Given the description of an element on the screen output the (x, y) to click on. 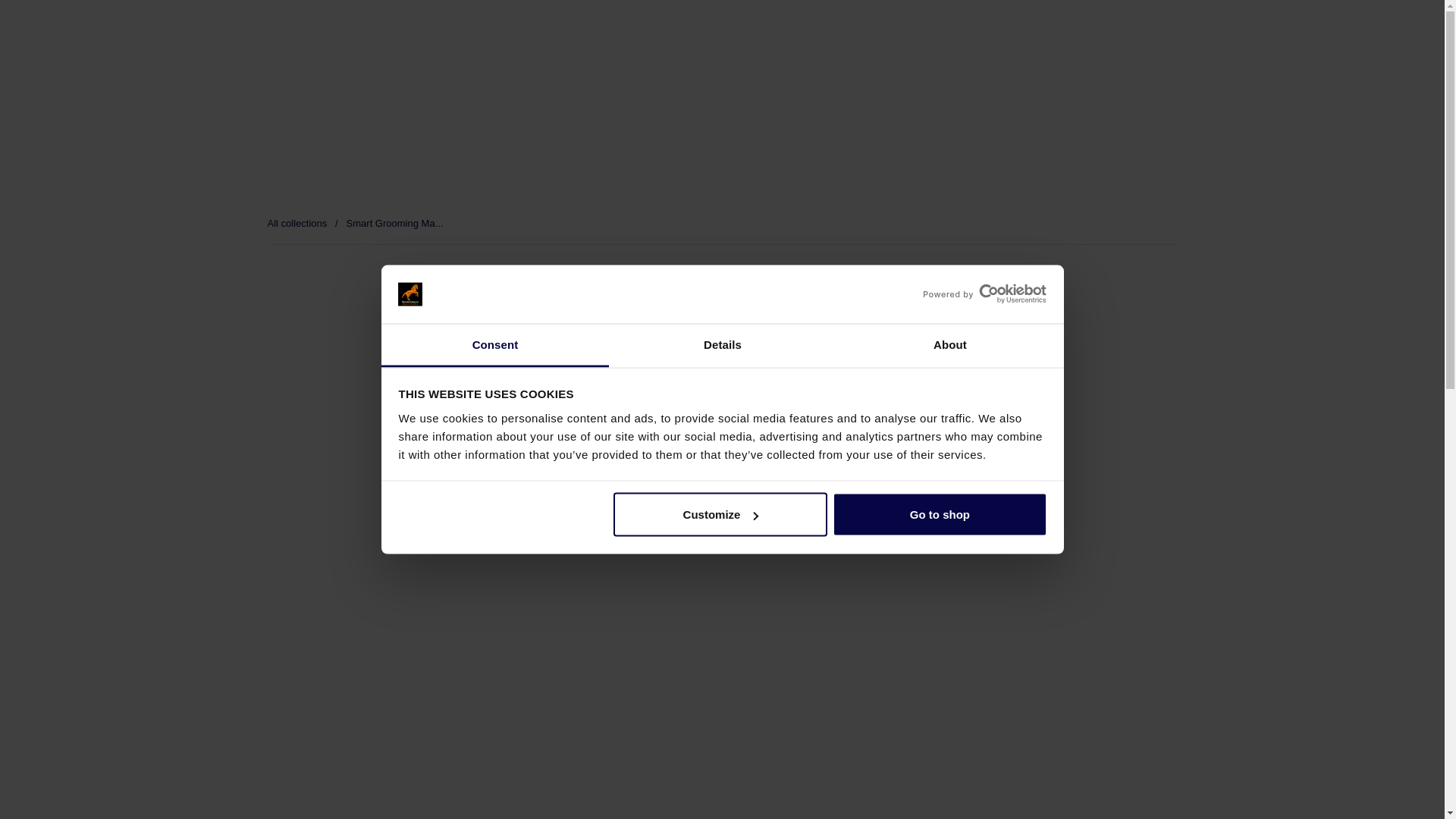
About (948, 344)
Consent (494, 344)
Details (721, 344)
